Given the description of an element on the screen output the (x, y) to click on. 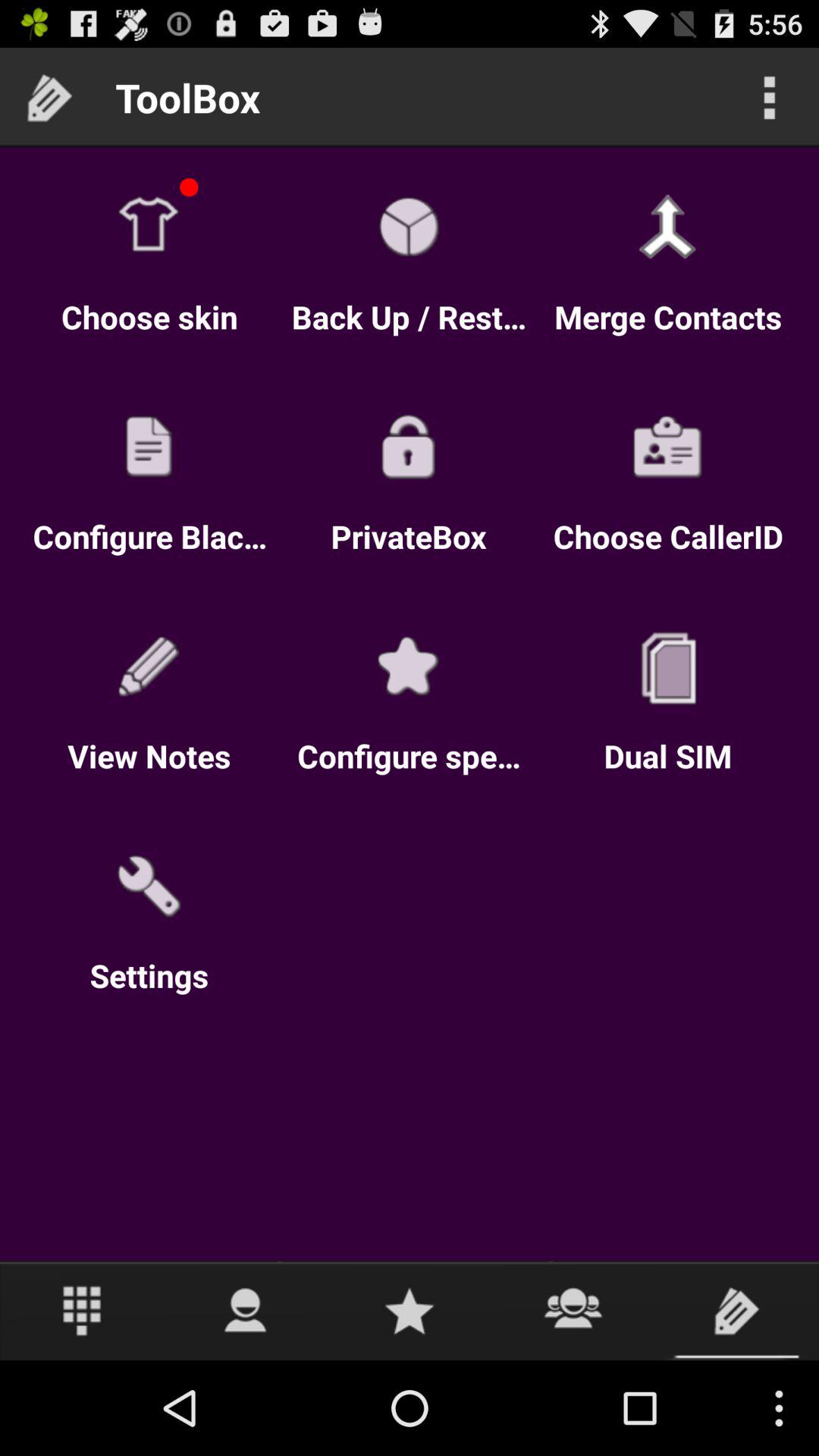
groups button (573, 1310)
